Given the description of an element on the screen output the (x, y) to click on. 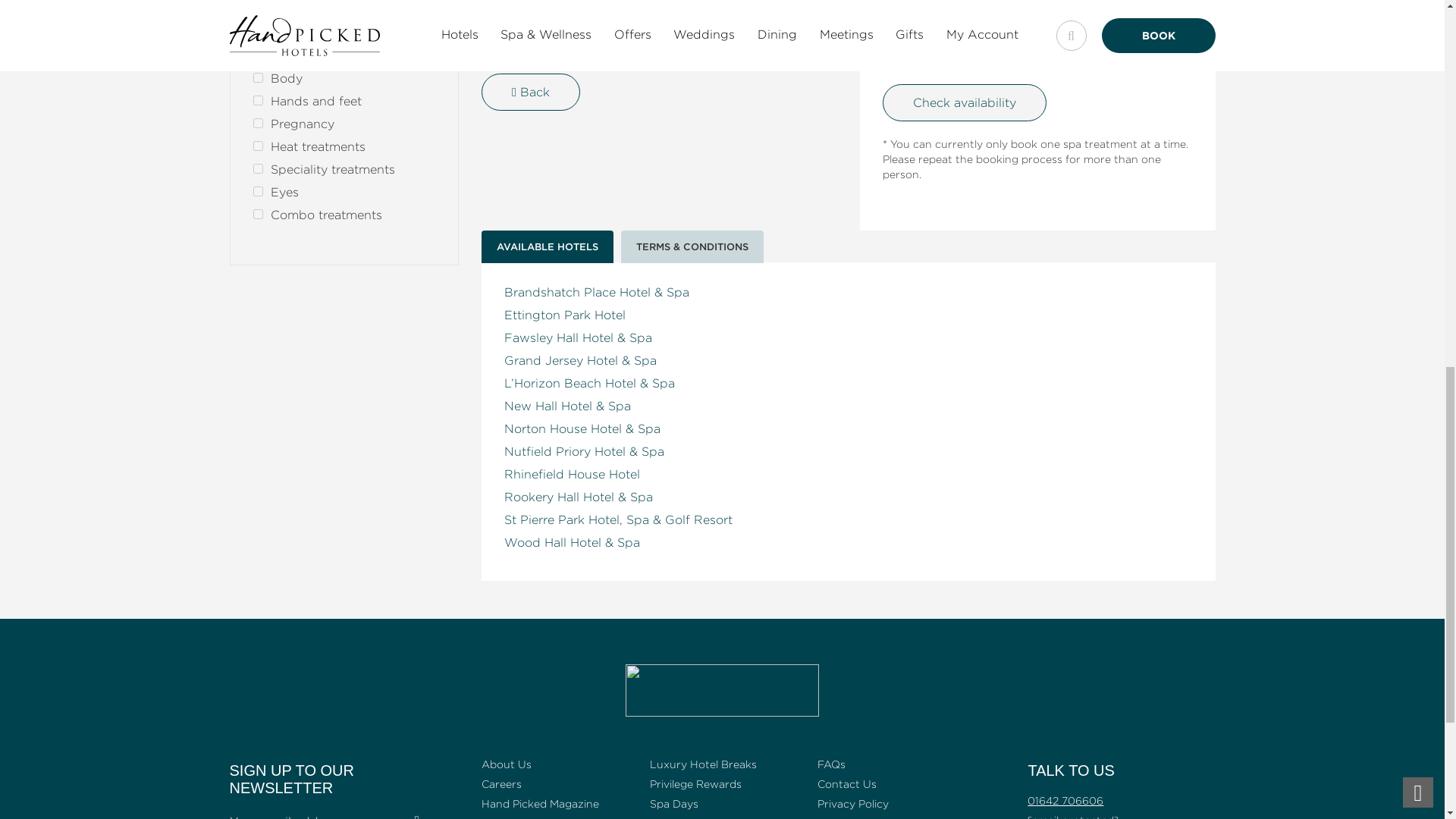
Pregnancy (258, 122)
Speciality-treatments (258, 168)
Massage (258, 54)
Body (258, 77)
Facials (258, 31)
Hands-and-feet (258, 100)
Heat-treatments (258, 145)
Eyes (258, 191)
Combo-treatments (258, 214)
